Given the description of an element on the screen output the (x, y) to click on. 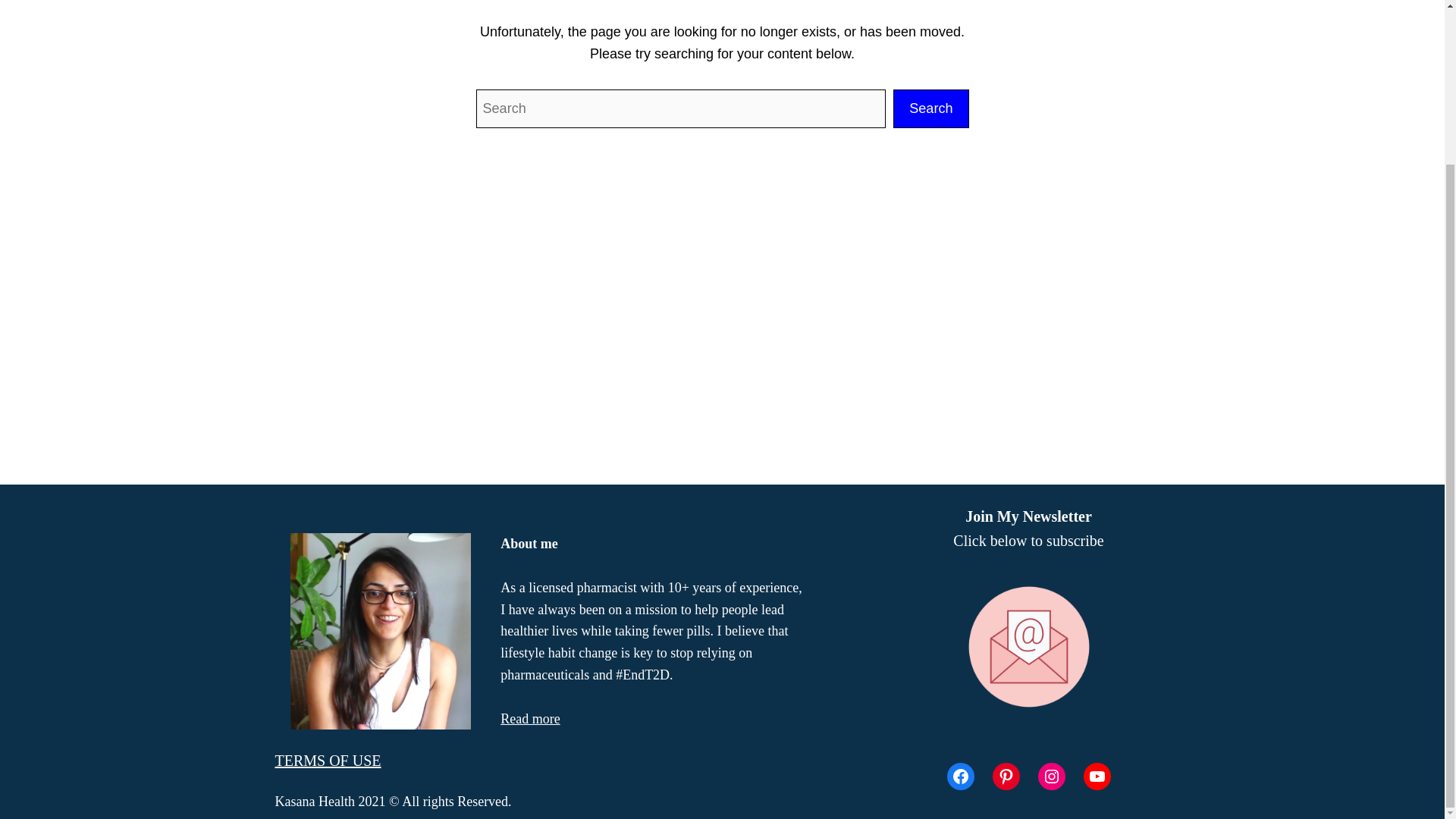
Facebook (960, 776)
Search (930, 108)
YouTube (1096, 776)
Instagram (1050, 776)
Read more (529, 718)
TERMS OF USE (327, 760)
Pinterest (1005, 776)
